Given the description of an element on the screen output the (x, y) to click on. 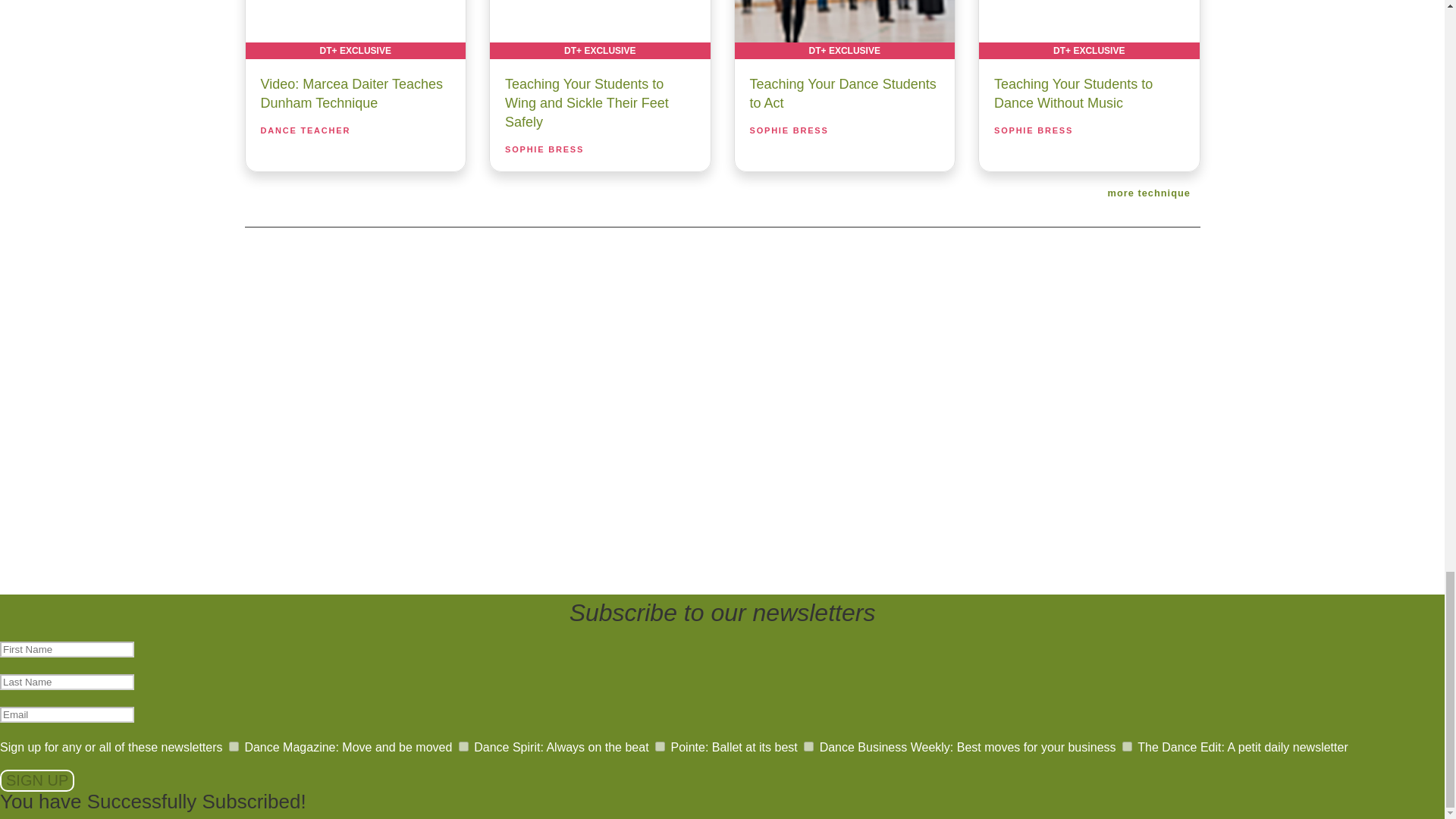
Teaching Your Students to Wing and Sickle Their Feet Safely (599, 29)
Dance Business Weekly: Best moves for your business (808, 746)
Follow on Facebook (645, 394)
Video: Marcea Daiter Teaches Dunham Technique (355, 29)
Teaching Your Dance Students to Act (844, 29)
Dance Magazine: Move and be moved (233, 746)
Teaching Your Students to Dance Without Music (1088, 29)
The Dance Edit: A petit daily newsletter (1127, 746)
Pointe: Ballet at its best (660, 746)
Dance Spirit: Always on the beat (463, 746)
